Given the description of an element on the screen output the (x, y) to click on. 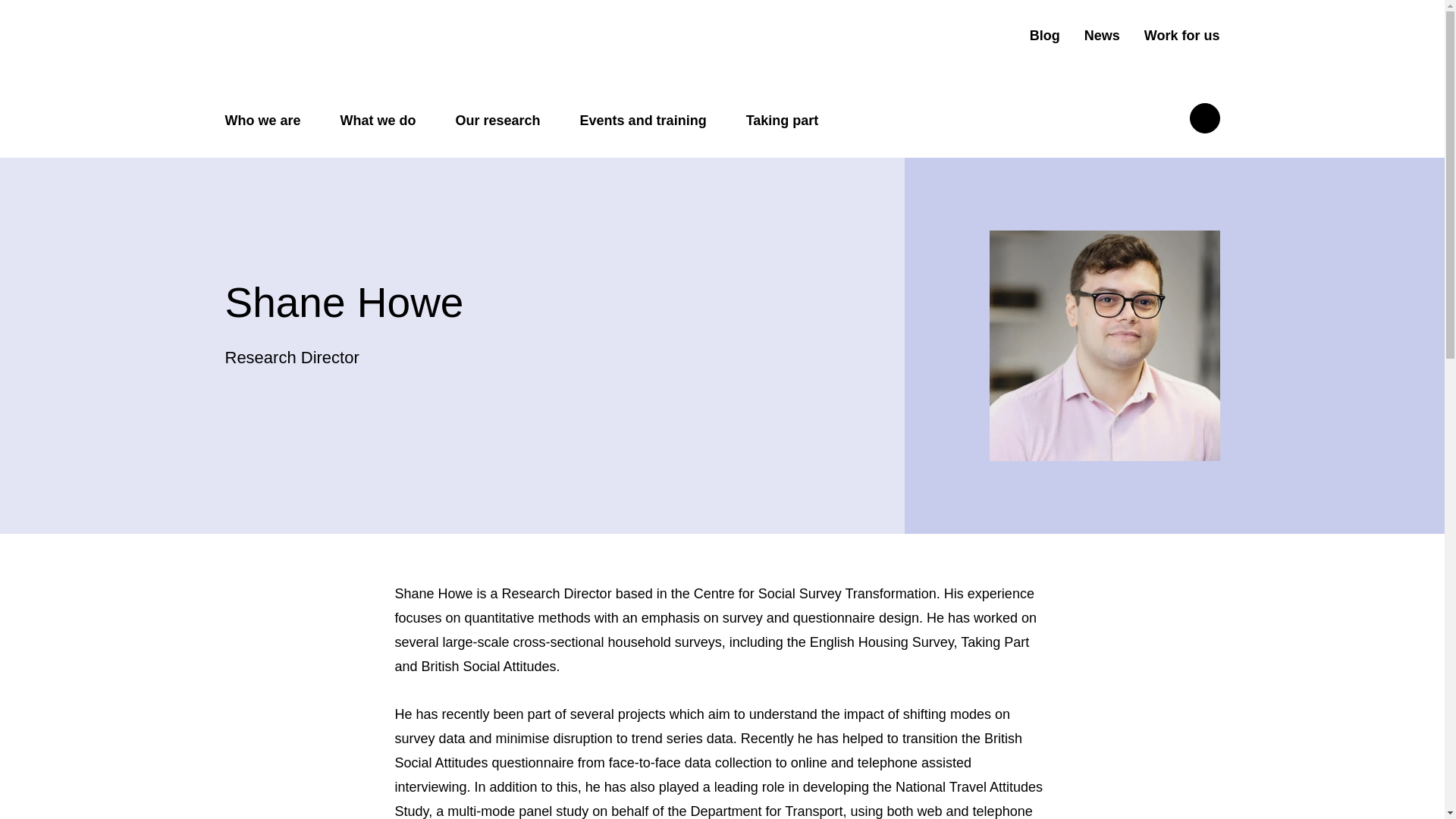
Our research (497, 122)
Events and training (642, 122)
News (1101, 36)
Taking part (781, 122)
What we do (378, 122)
Blog (1044, 36)
Return to the homepage (344, 48)
Who we are (261, 122)
Work for us (1182, 36)
